Given the description of an element on the screen output the (x, y) to click on. 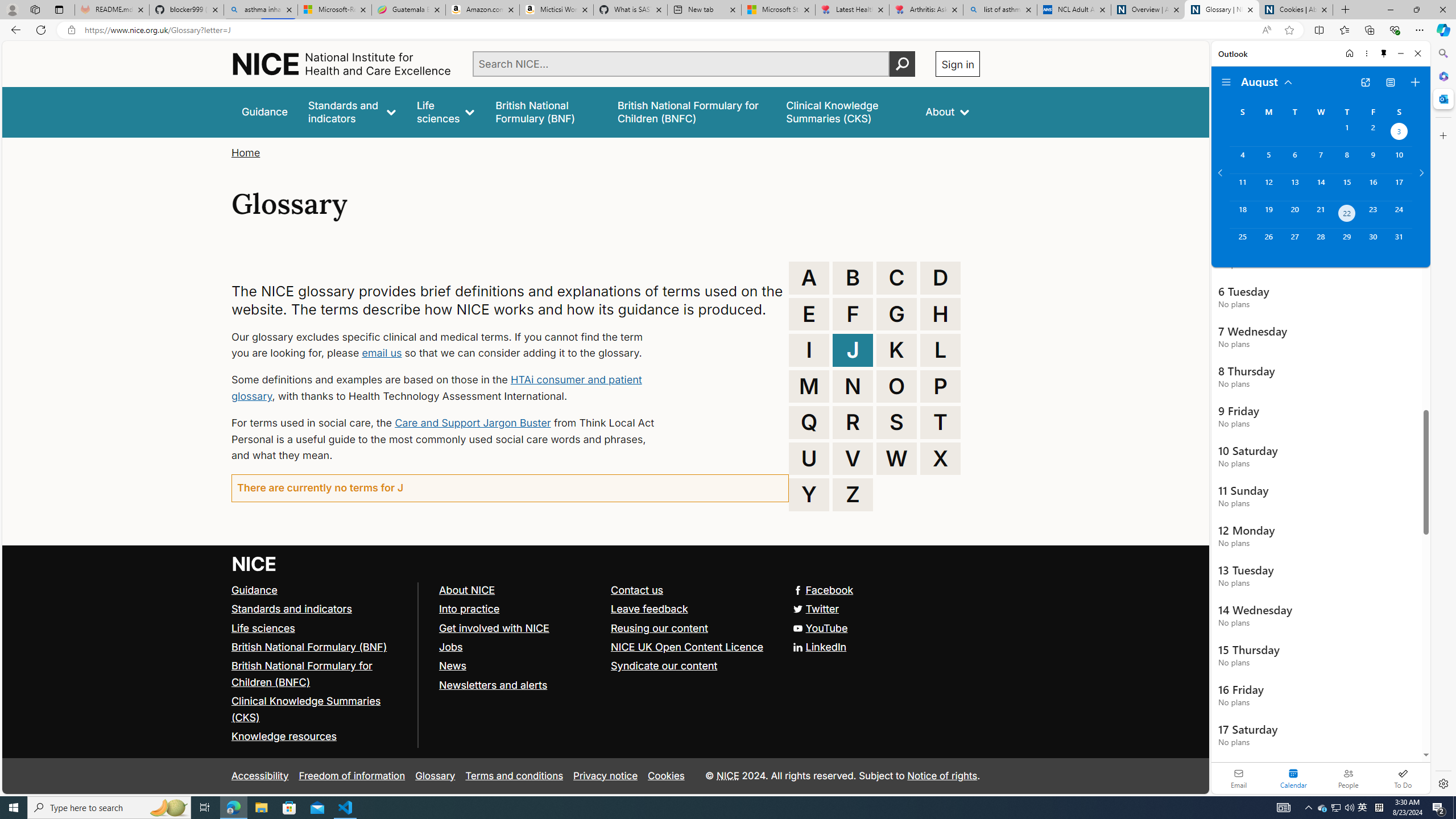
About NICE (518, 589)
E (809, 313)
P (940, 385)
NICE UK Open Content Licence (687, 646)
R (852, 422)
Life sciences (446, 111)
